Given the description of an element on the screen output the (x, y) to click on. 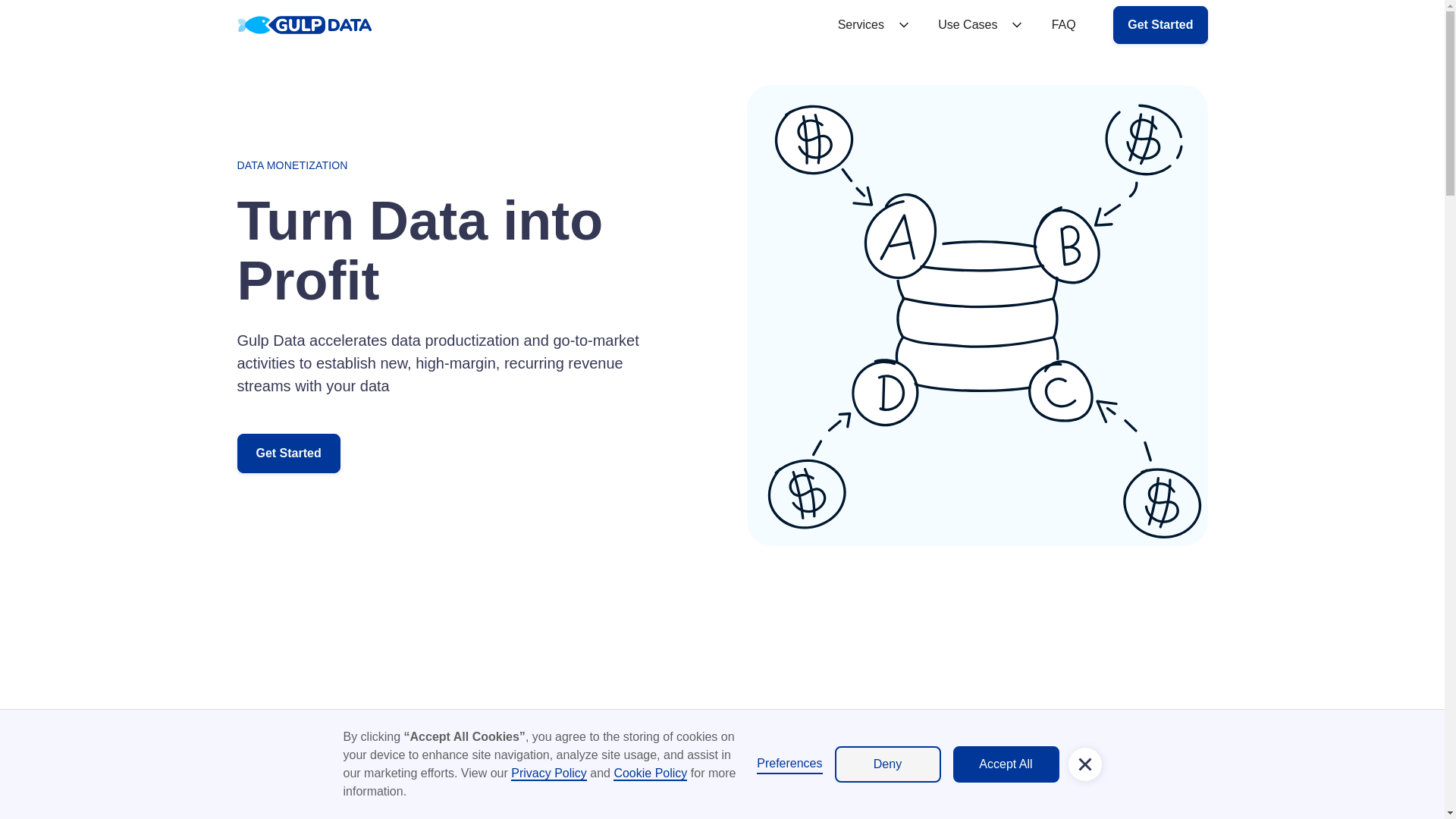
Get Started (1160, 24)
Privacy Policy (548, 773)
Accept All (1005, 764)
Deny (887, 764)
Preferences (789, 763)
Cookie Policy (649, 773)
FAQ (1063, 24)
Get Started (287, 453)
